Given the description of an element on the screen output the (x, y) to click on. 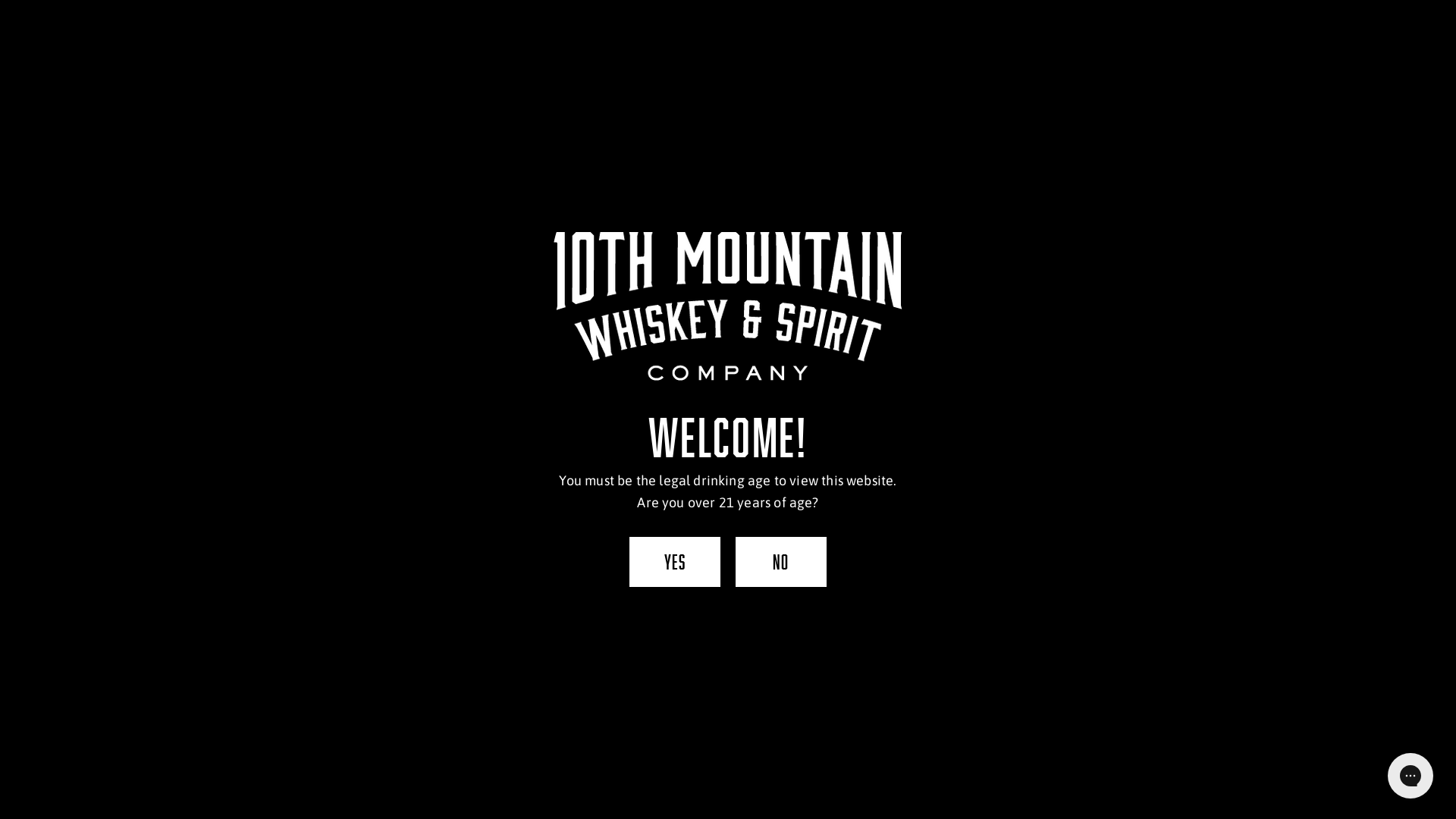
Sold out Element type: text (727, 352)
Cart Element type: text (1213, 46)
View full details Element type: text (890, 426)
NO Element type: text (780, 561)
Increase quantity for Element type: text (763, 292)
Buy Now Element type: text (727, 753)
Log in Element type: text (1120, 46)
https://10thwhiskey.com Element type: text (613, 475)
Find Us Element type: text (912, 46)
Skip to product information Element type: text (556, 186)
Contact Us Element type: text (989, 46)
Gorgias live chat messenger Element type: hover (1410, 775)
YES Element type: text (674, 561)
Decrease quantity for Element type: text (692, 292)
Merch Element type: text (1062, 46)
